Given the description of an element on the screen output the (x, y) to click on. 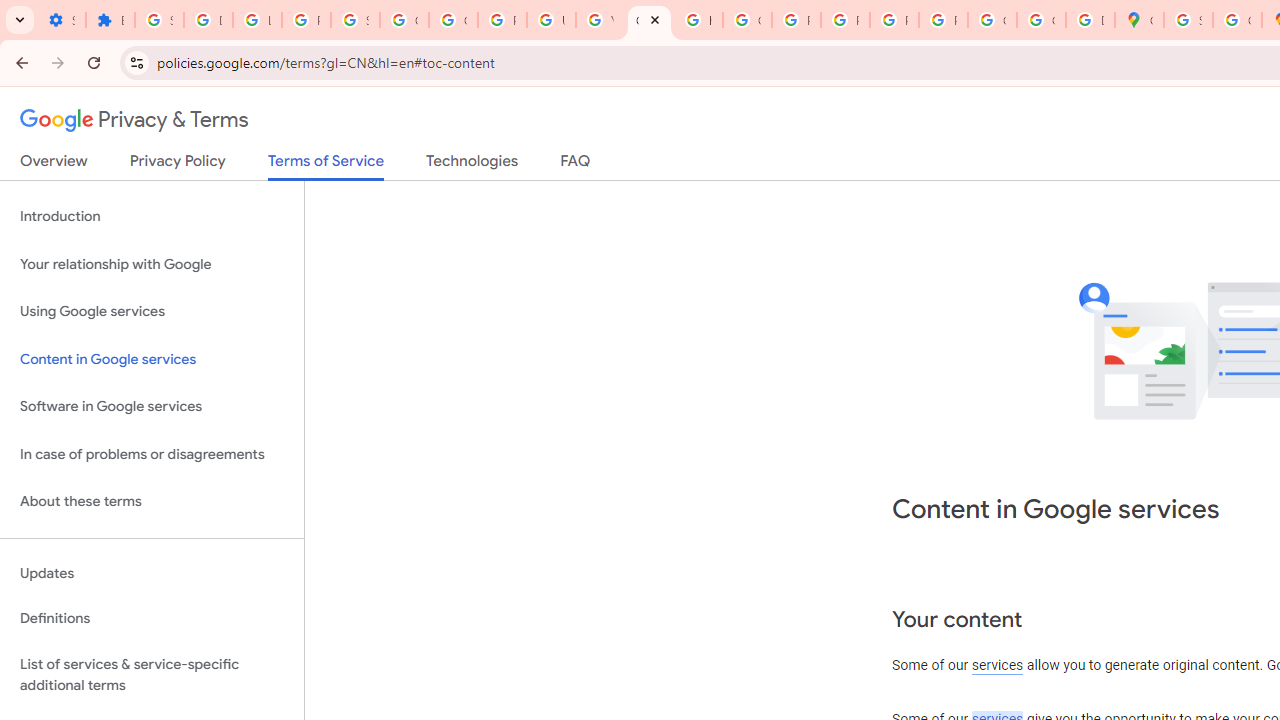
Sign in - Google Accounts (1188, 20)
Updates (152, 573)
https://scholar.google.com/ (698, 20)
Sign in - Google Accounts (355, 20)
Google Account Help (404, 20)
Google Account Help (452, 20)
Settings - On startup (61, 20)
Your relationship with Google (152, 263)
